Given the description of an element on the screen output the (x, y) to click on. 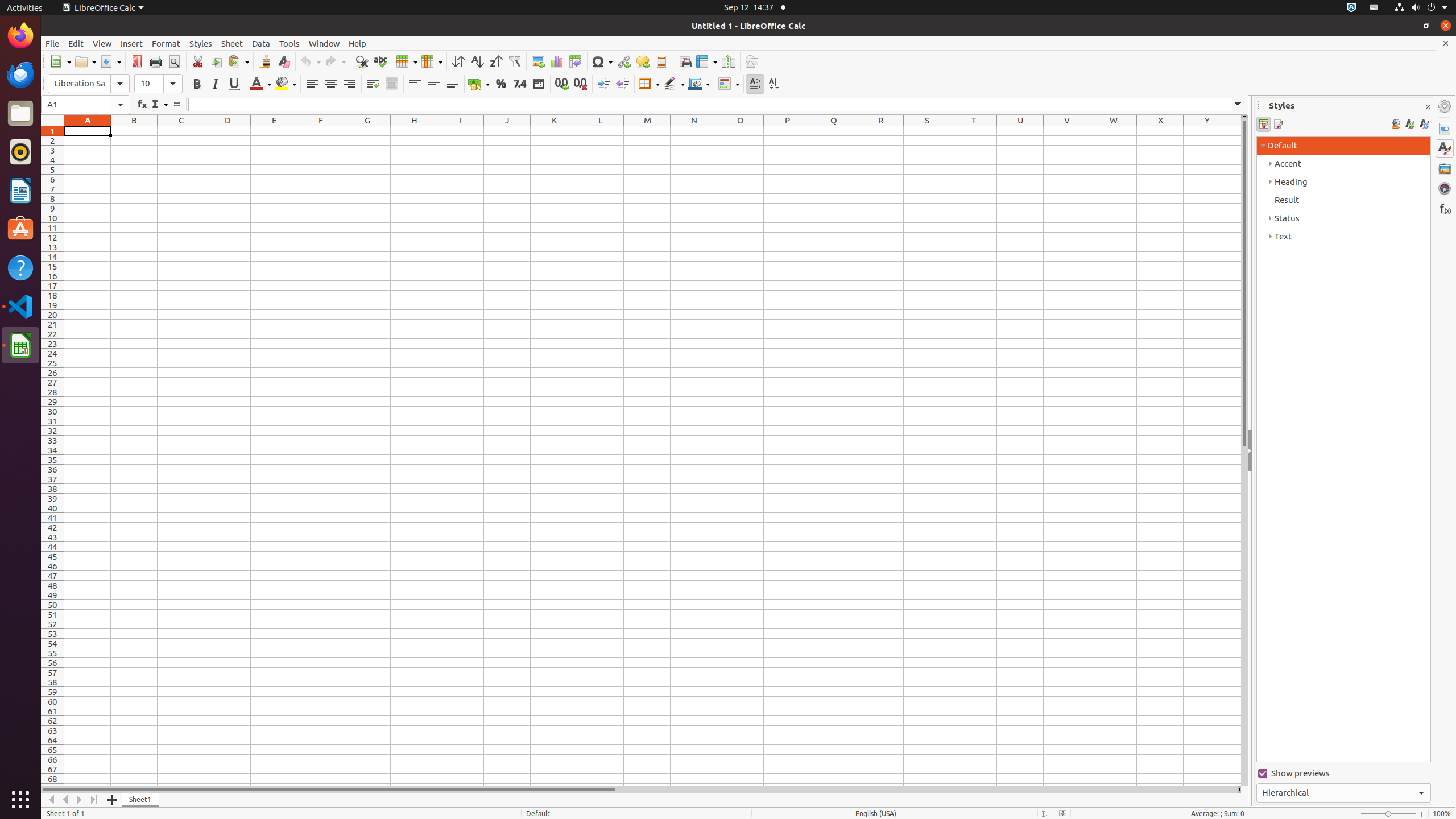
Bold Element type: toggle-button (196, 83)
Font Name Element type: combo-box (88, 83)
Close Sidebar Deck Element type: push-button (1427, 106)
LibreOffice Calc Element type: menu (102, 7)
Center Vertically Element type: push-button (433, 83)
